Given the description of an element on the screen output the (x, y) to click on. 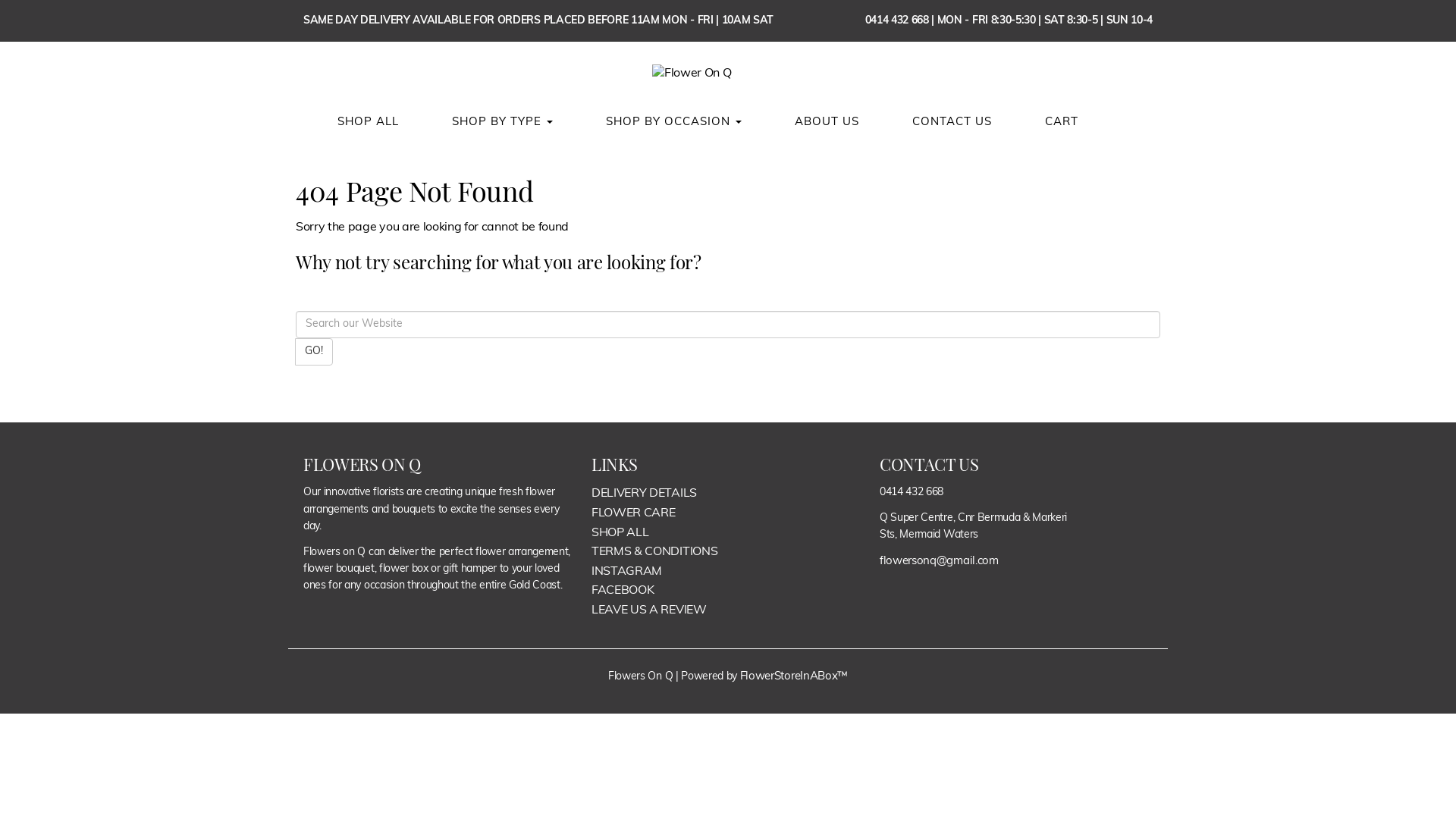
DELIVERY DETAILS Element type: text (643, 493)
ABOUT US Element type: text (826, 122)
GO! Element type: text (313, 351)
SHOP ALL Element type: text (619, 533)
SHOP BY OCCASION Element type: text (673, 122)
FACEBOOK Element type: text (622, 590)
LEAVE US A REVIEW Element type: text (648, 610)
CONTACT US Element type: text (951, 122)
CART Element type: text (1061, 122)
INSTAGRAM Element type: text (626, 571)
Flower On Q Element type: hover (727, 74)
FLOWER CARE Element type: text (632, 513)
SHOP ALL Element type: text (367, 122)
SHOP BY TYPE Element type: text (502, 122)
flowersonq@gmail.com Element type: text (938, 561)
TERMS & CONDITIONS Element type: text (654, 552)
